Given the description of an element on the screen output the (x, y) to click on. 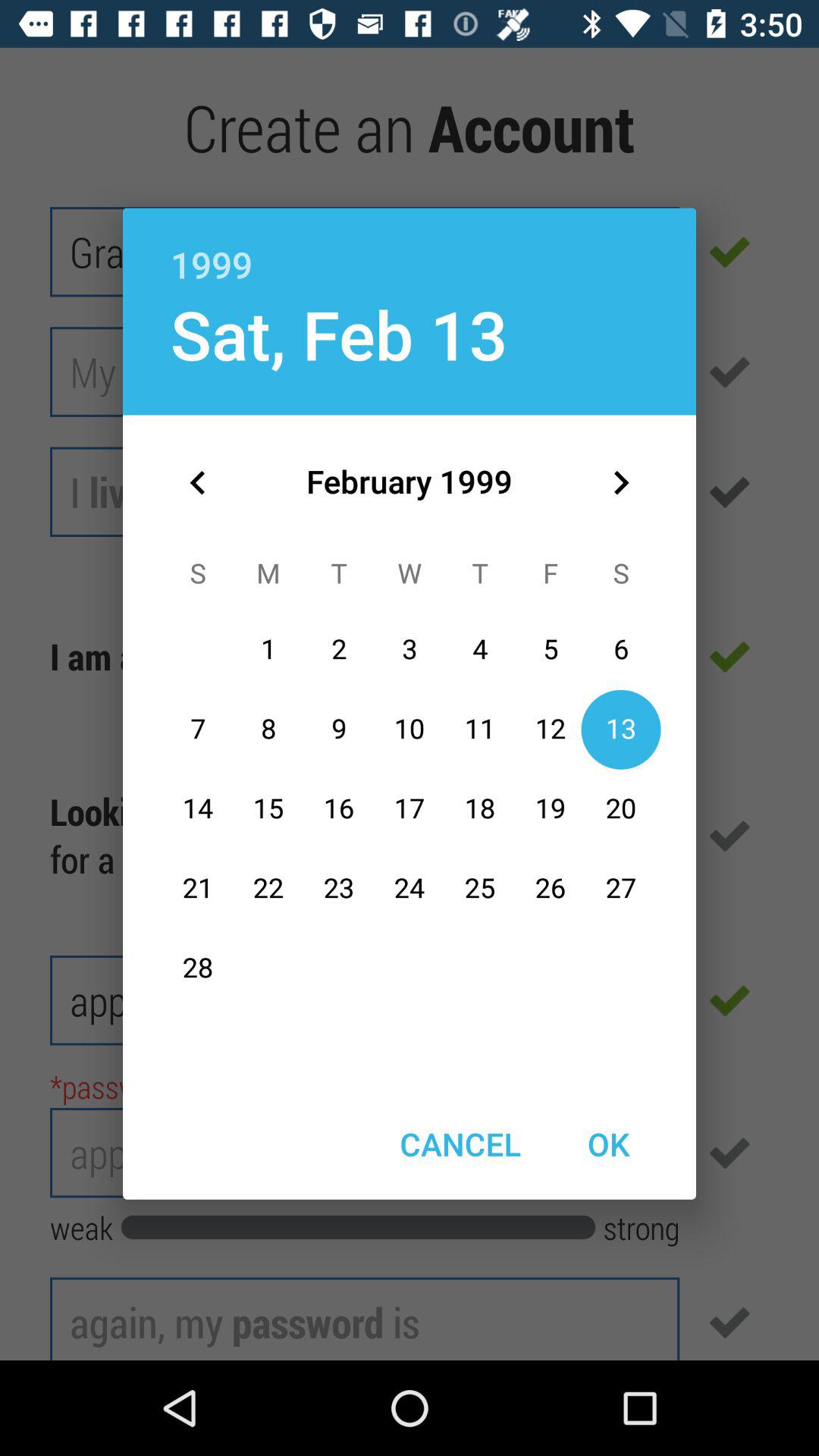
swipe to the cancel (459, 1143)
